Given the description of an element on the screen output the (x, y) to click on. 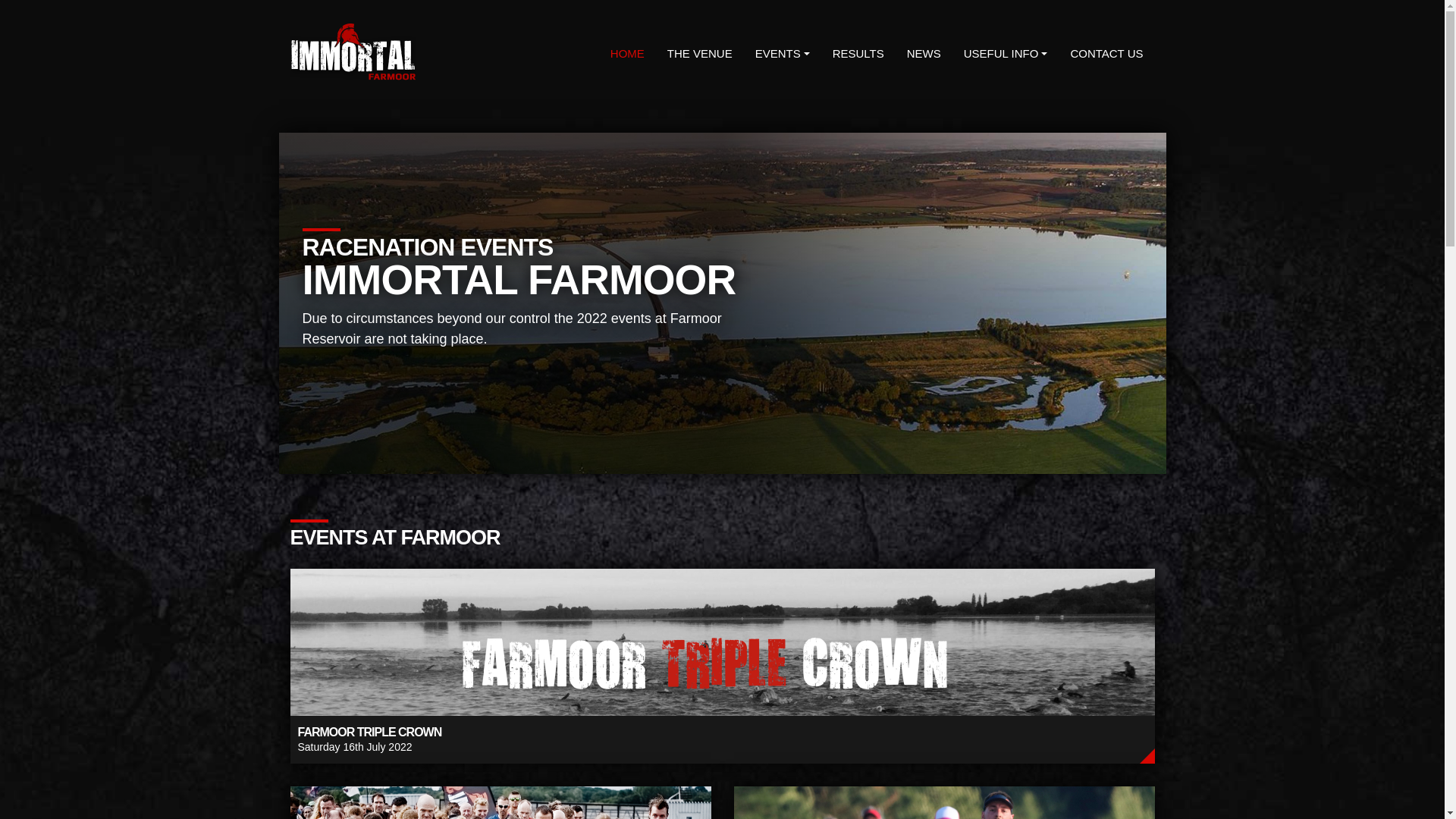
NEWS (923, 54)
HOME (627, 54)
EVENTS (782, 54)
THE VENUE (699, 54)
CONTACT US (1106, 54)
RESULTS (499, 802)
USEFUL INFO (858, 54)
